Given the description of an element on the screen output the (x, y) to click on. 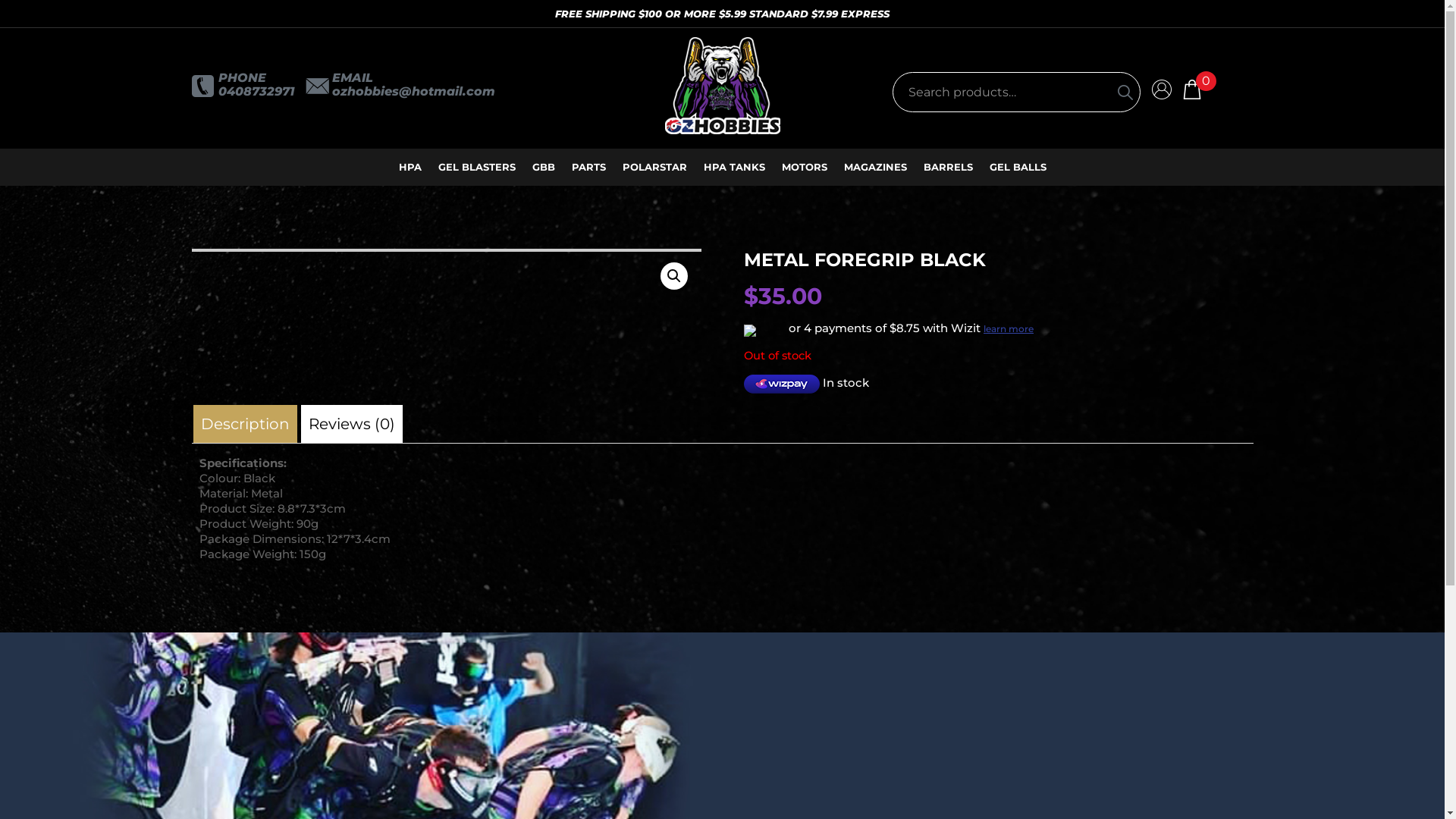
GEL BLASTERS Element type: text (476, 166)
0 Element type: text (1192, 88)
PARTS Element type: text (588, 166)
POLARSTAR Element type: text (653, 166)
GBB Element type: text (543, 166)
ozhobbies@hotmail.com Element type: text (413, 91)
0408732971 Element type: text (256, 91)
MOTORS Element type: text (803, 166)
HPA TANKS Element type: text (734, 166)
HPA Element type: text (409, 166)
Reviews (0) Element type: text (351, 423)
GEL BALLS Element type: text (1016, 166)
learn more Element type: text (1007, 328)
Description Element type: text (244, 423)
BARRELS Element type: text (947, 166)
MAGAZINES Element type: text (874, 166)
